Given the description of an element on the screen output the (x, y) to click on. 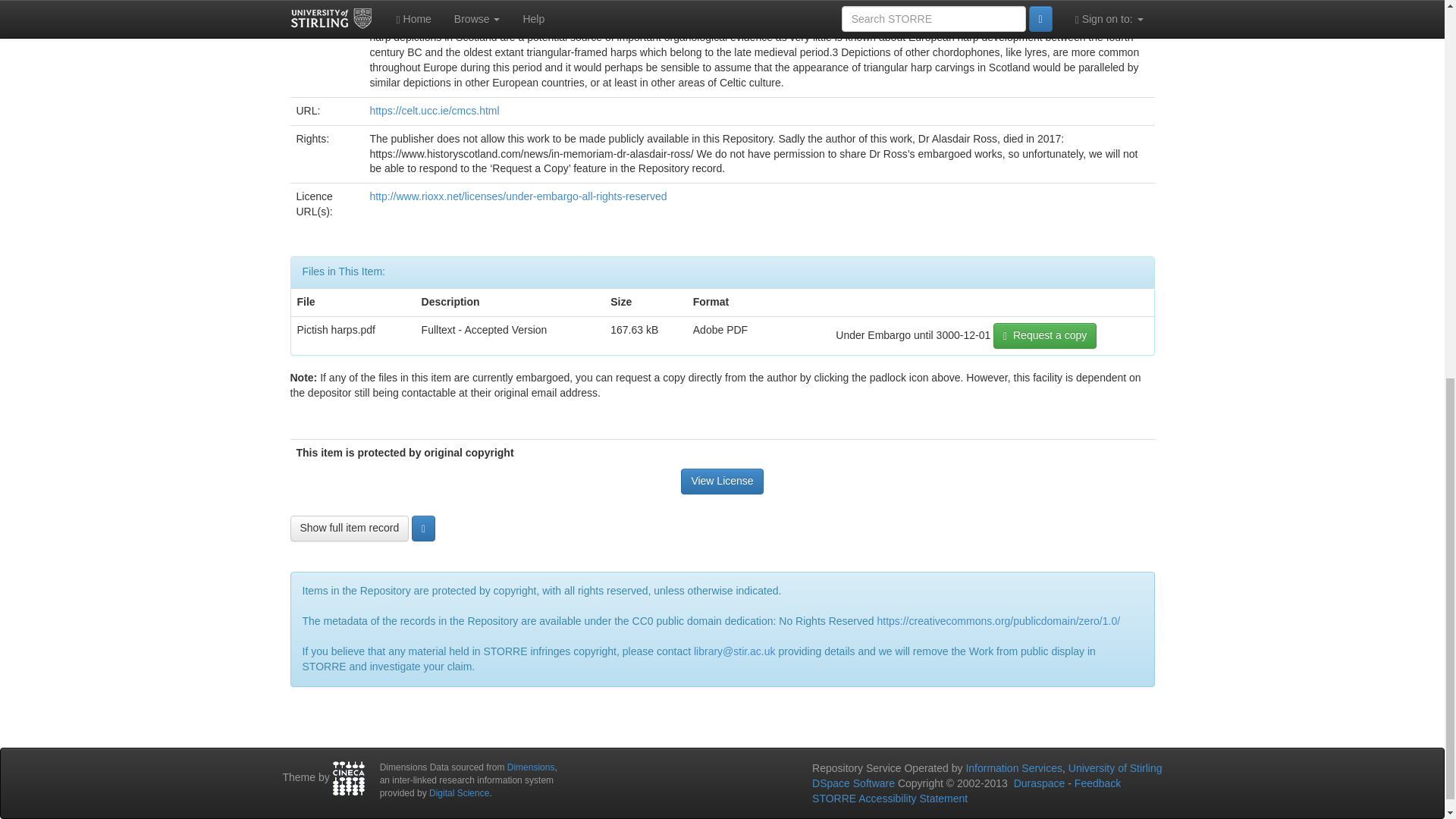
  Request a copy (1044, 335)
View License (721, 481)
